Given the description of an element on the screen output the (x, y) to click on. 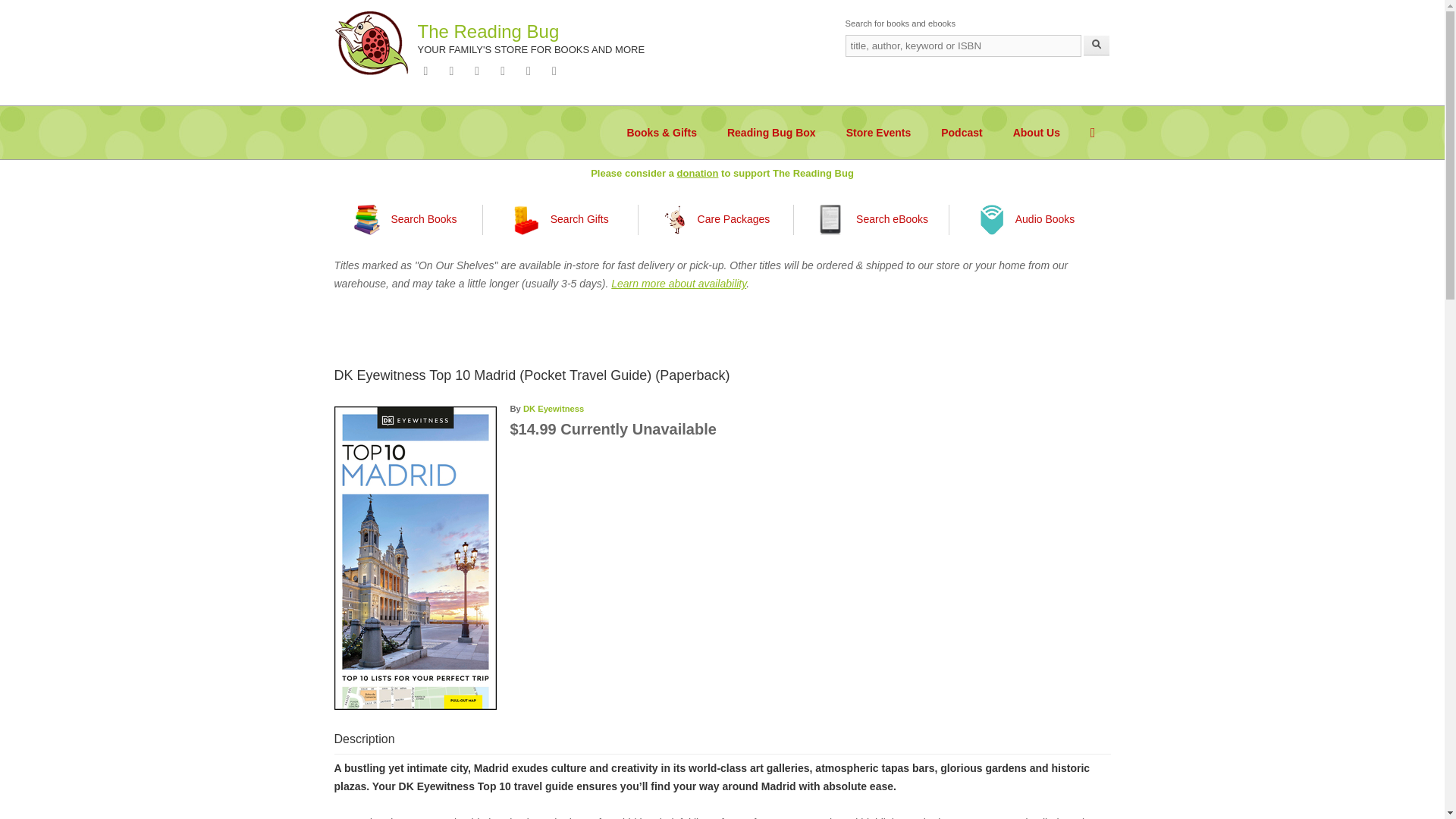
Home (371, 42)
The Reading Bug (487, 31)
Home (487, 31)
Enter the terms you wish to search for. (962, 45)
Search (1096, 46)
Search (1096, 46)
